Given the description of an element on the screen output the (x, y) to click on. 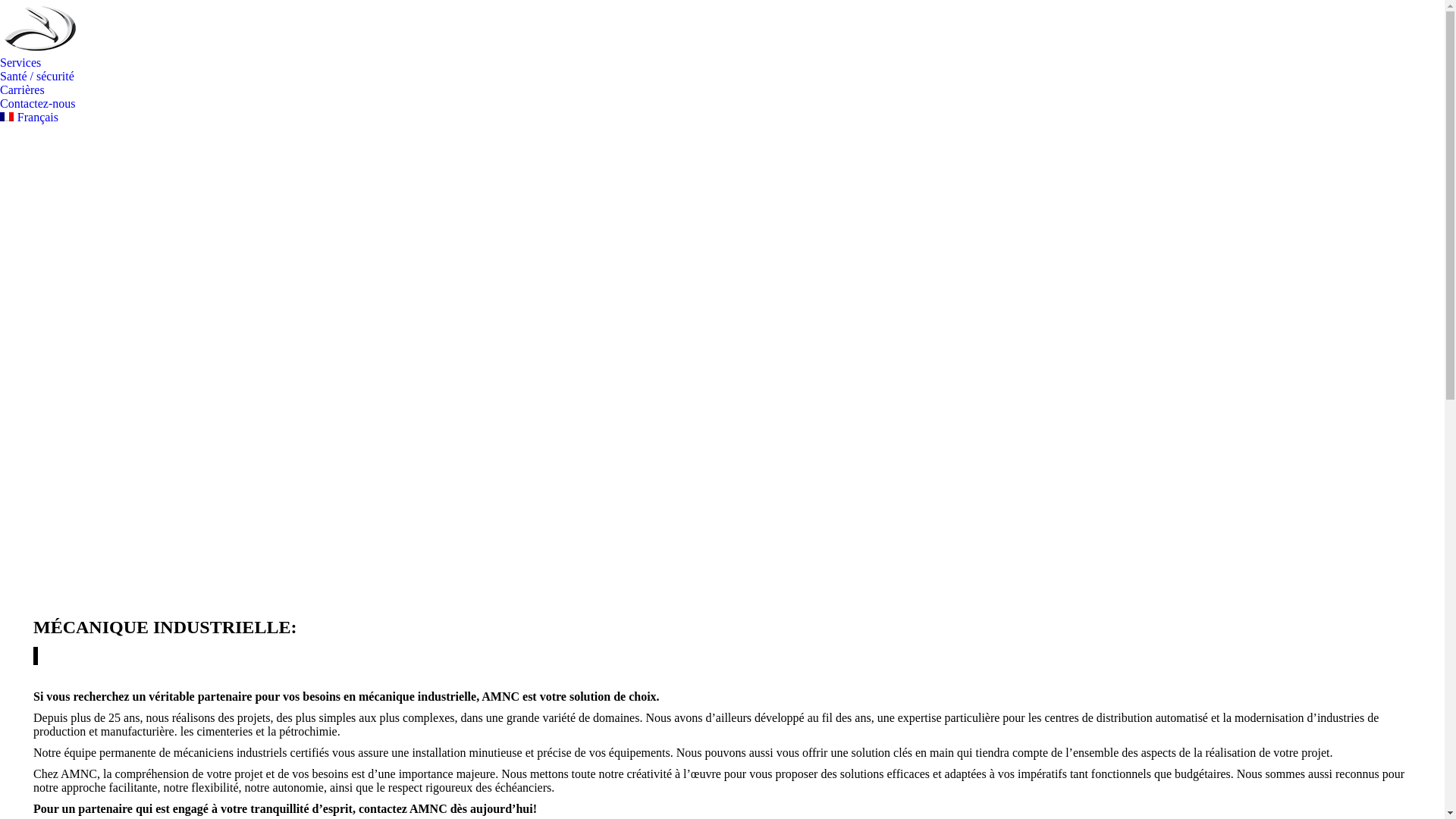
Services Element type: text (20, 62)
Contactez-nous Element type: text (37, 103)
